Given the description of an element on the screen output the (x, y) to click on. 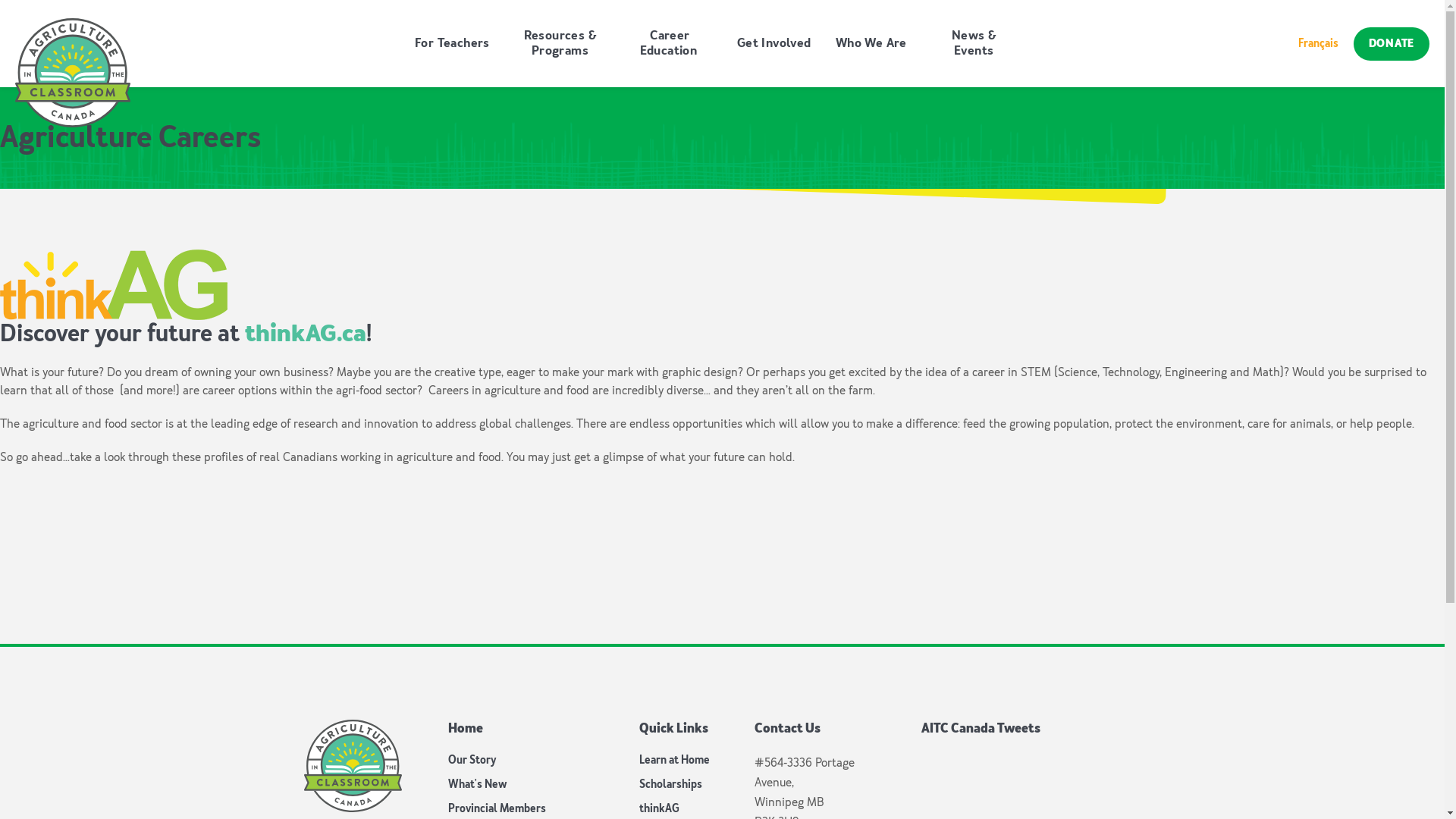
Career Education Element type: text (669, 43)
Home Element type: text (464, 728)
DONATE Element type: text (1391, 43)
thinkAG Element type: text (659, 808)
What's New Element type: text (476, 784)
Our Story Element type: text (471, 760)
Learn at Home Element type: text (673, 760)
Provincial Members Element type: text (496, 808)
AITC Canada Element type: hover (352, 765)
For Teachers Element type: text (452, 43)
thinkAG.ca Element type: text (305, 333)
Scholarships Element type: text (669, 784)
